Given the description of an element on the screen output the (x, y) to click on. 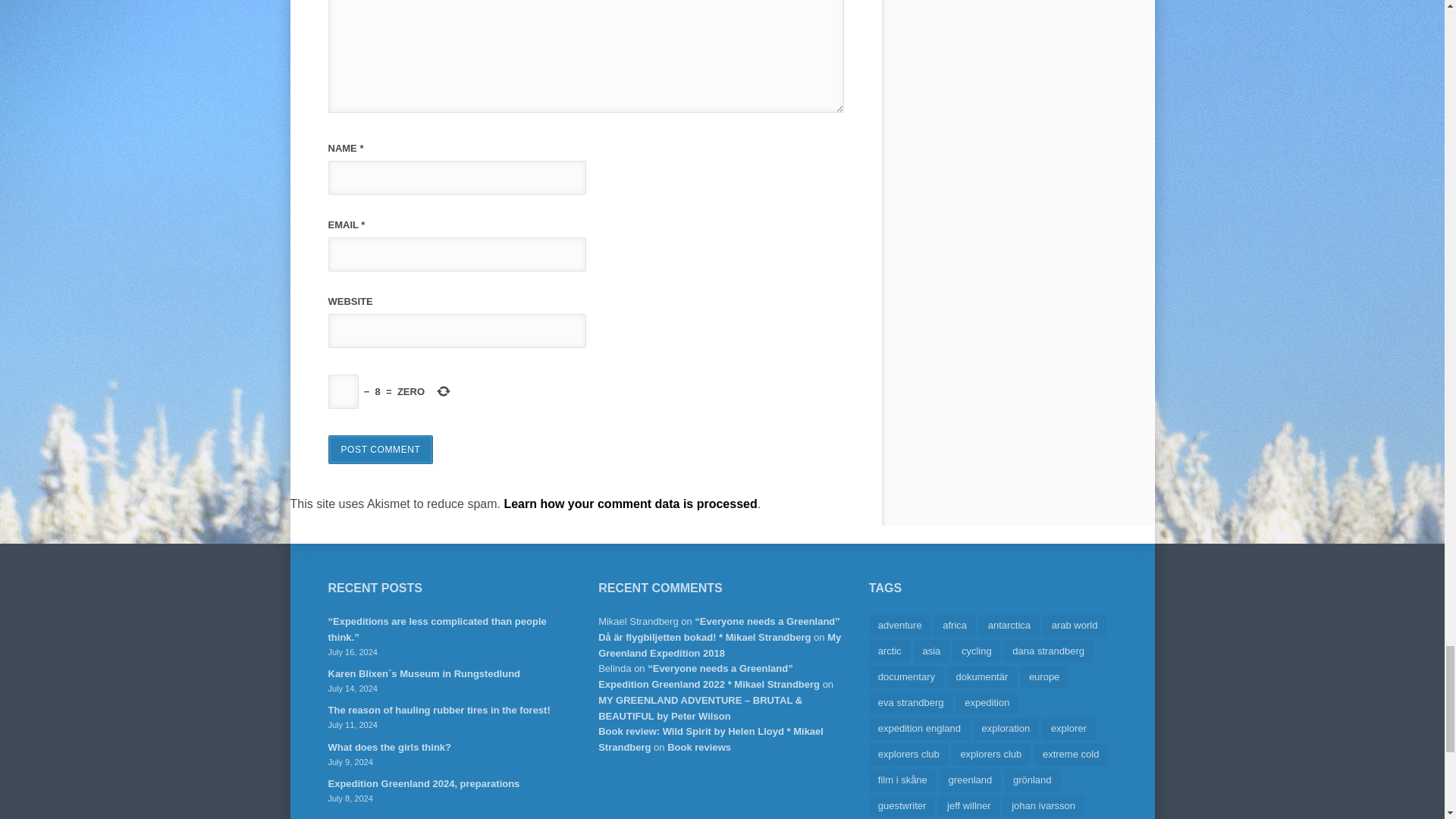
Post Comment (379, 449)
